Given the description of an element on the screen output the (x, y) to click on. 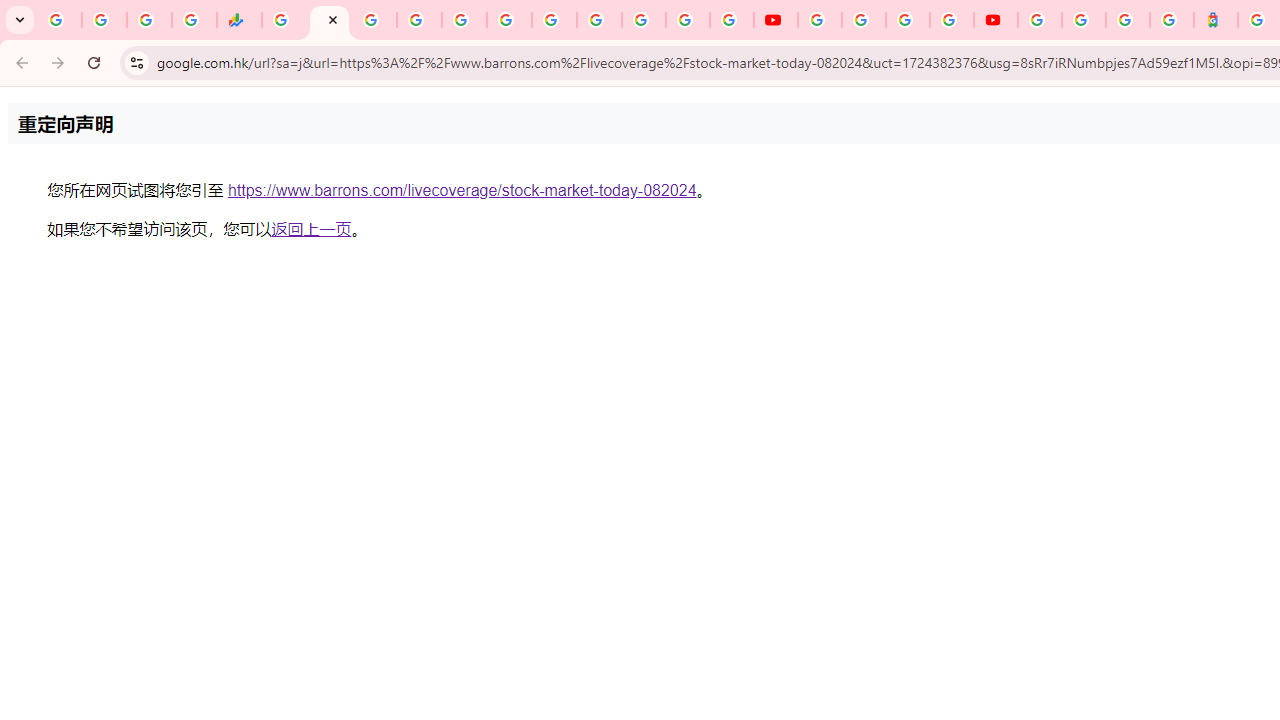
Sign in - Google Accounts (1039, 20)
